Given the description of an element on the screen output the (x, y) to click on. 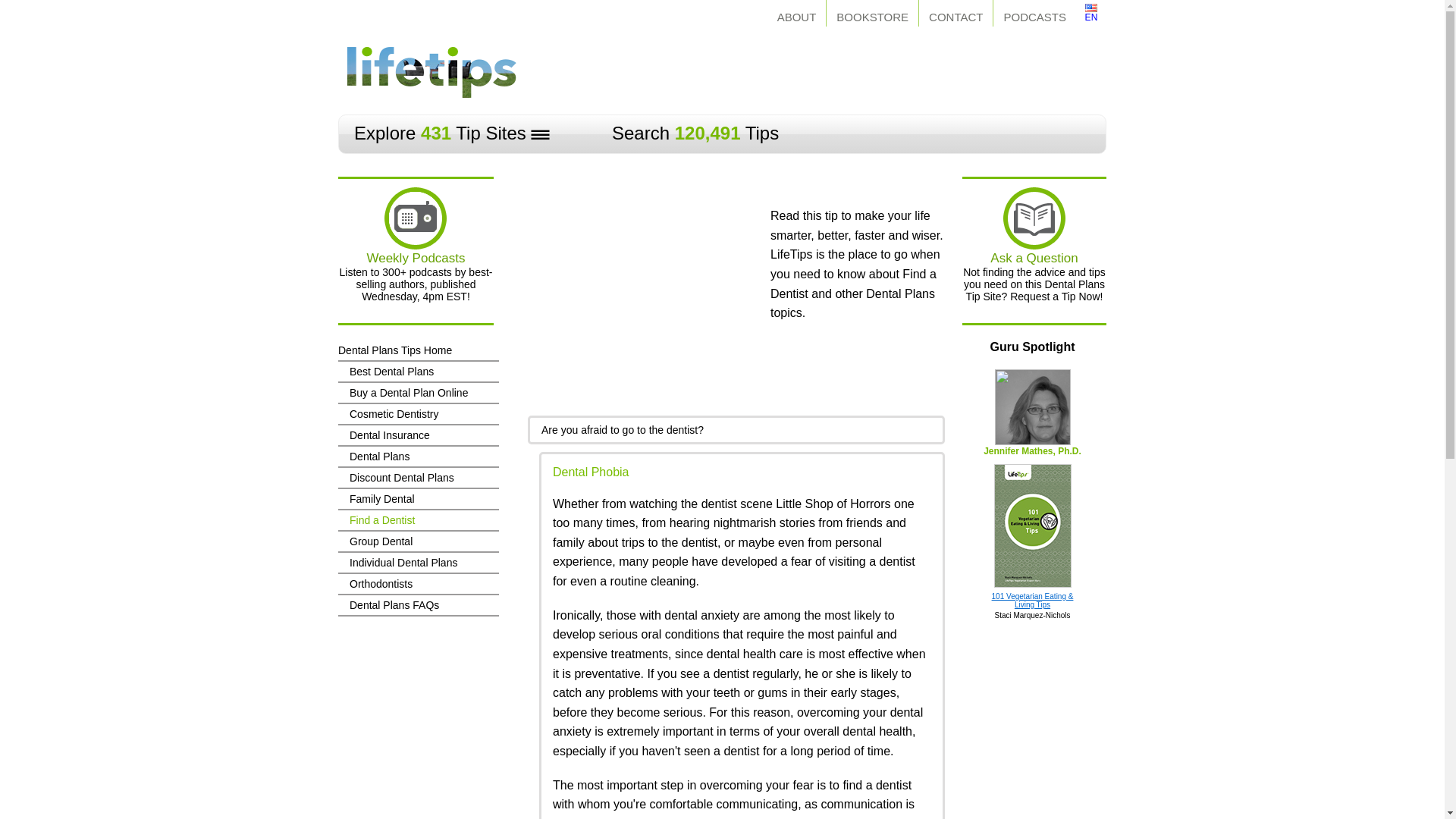
Find a Dentist Tips (418, 519)
Buy a Dental Plan Online Tips (418, 392)
Best Dental Plans Tips (418, 371)
CONTACT (955, 13)
Orthodontists Tips (418, 583)
Dental Plans Tips (418, 456)
Frequently Asked Dental Plans Questions (418, 605)
Family Dental Tips (418, 498)
Cosmetic Dentistry Tips (418, 414)
Advertisement (830, 68)
Individual Dental Plans Tips (418, 562)
BOOKSTORE (872, 13)
PODCASTS (1033, 13)
Discount Dental Plans Tips (418, 477)
Dental Insurance Tips (418, 435)
